Given the description of an element on the screen output the (x, y) to click on. 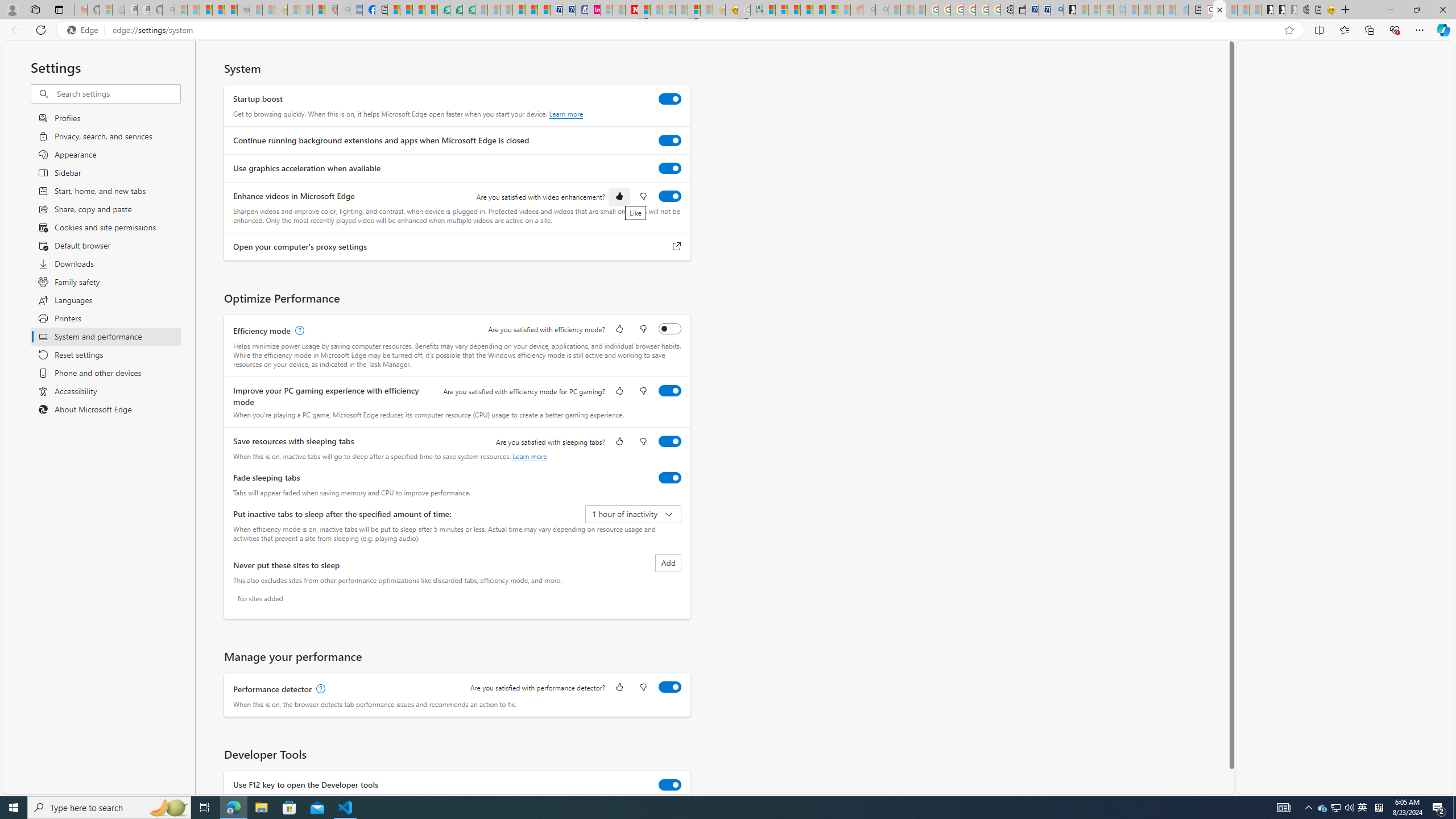
Save resources with sleeping tabs (669, 441)
Microsoft Word - consumer-privacy address update 2.2021 (468, 9)
